Given the description of an element on the screen output the (x, y) to click on. 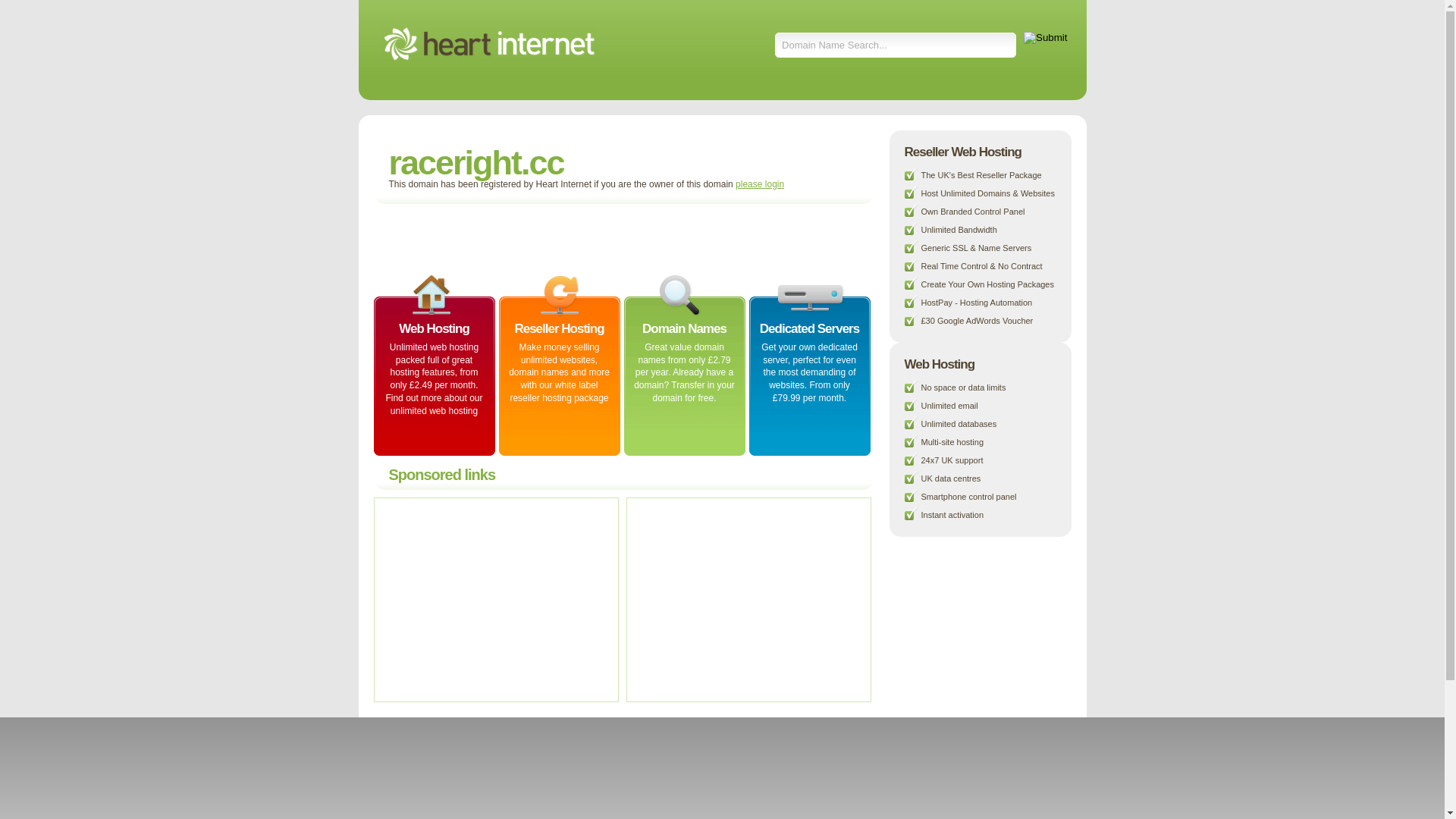
Domain Name Search... Element type: text (895, 44)
Advertisement Element type: hover (745, 598)
Advertisement Element type: hover (494, 598)
please login Element type: text (759, 183)
Advertisement Element type: hover (557, 237)
